Given the description of an element on the screen output the (x, y) to click on. 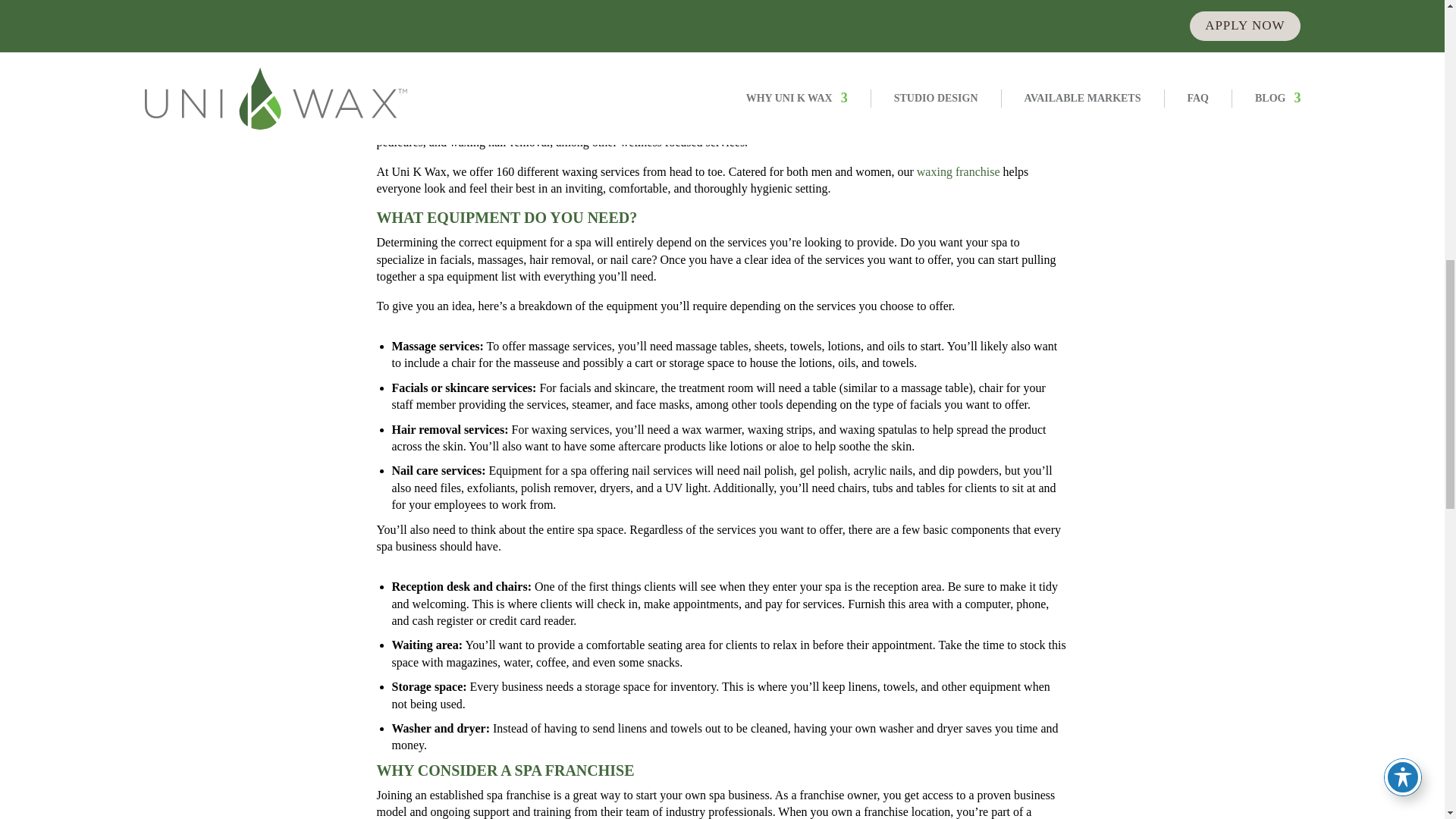
waxing franchise (958, 171)
International SPA Association (533, 107)
